Given the description of an element on the screen output the (x, y) to click on. 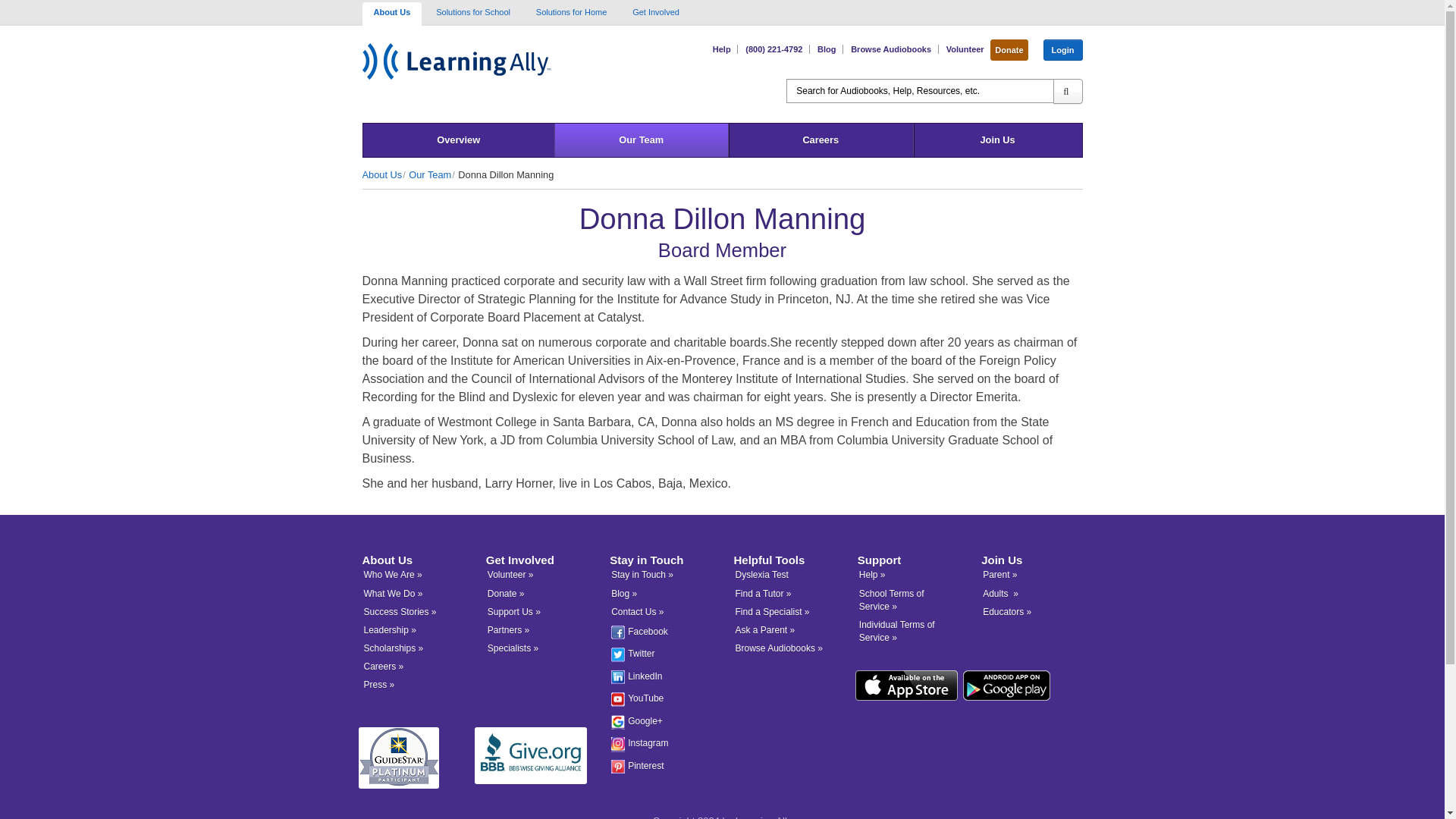
Donate (1008, 50)
Donate (1008, 50)
Volunteer (510, 574)
Help (719, 49)
Volunteer (962, 49)
Donate (505, 593)
Solutions for School (473, 11)
Get Involved (655, 11)
Login (1063, 50)
Blog (824, 49)
Careers (820, 140)
Success Stories (400, 611)
Submit (1066, 91)
Solutions for Home (571, 11)
Specialists (512, 647)
